Given the description of an element on the screen output the (x, y) to click on. 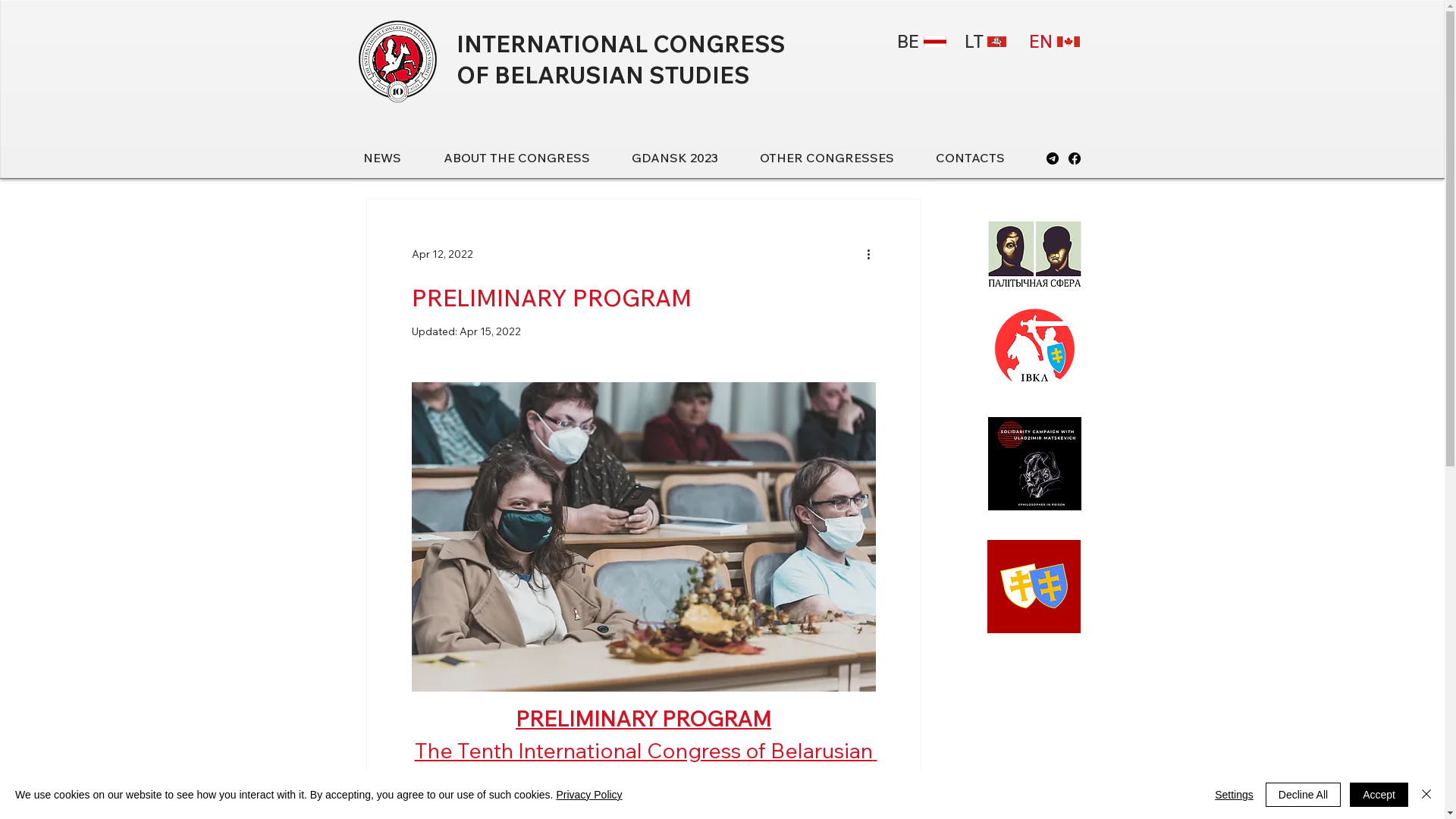
Privacy Policy Element type: text (588, 794)
ABOUT THE CONGRESS Element type: text (529, 157)
CONTACTS Element type: text (983, 157)
LT Element type: text (985, 41)
NEWS Element type: text (394, 157)
BE Element type: text (918, 41)
EN Element type: text (1051, 41)
lietuva.png Element type: hover (996, 41)
Accept Element type: text (1378, 794)
GDANSK 2023 Element type: text (687, 157)
Decline All Element type: text (1302, 794)
